Given the description of an element on the screen output the (x, y) to click on. 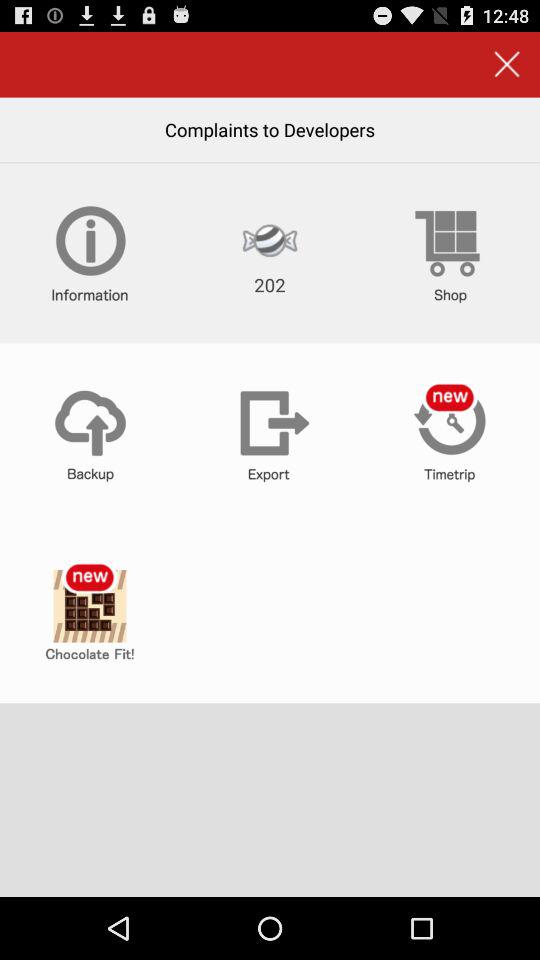
timetrip option (450, 433)
